Given the description of an element on the screen output the (x, y) to click on. 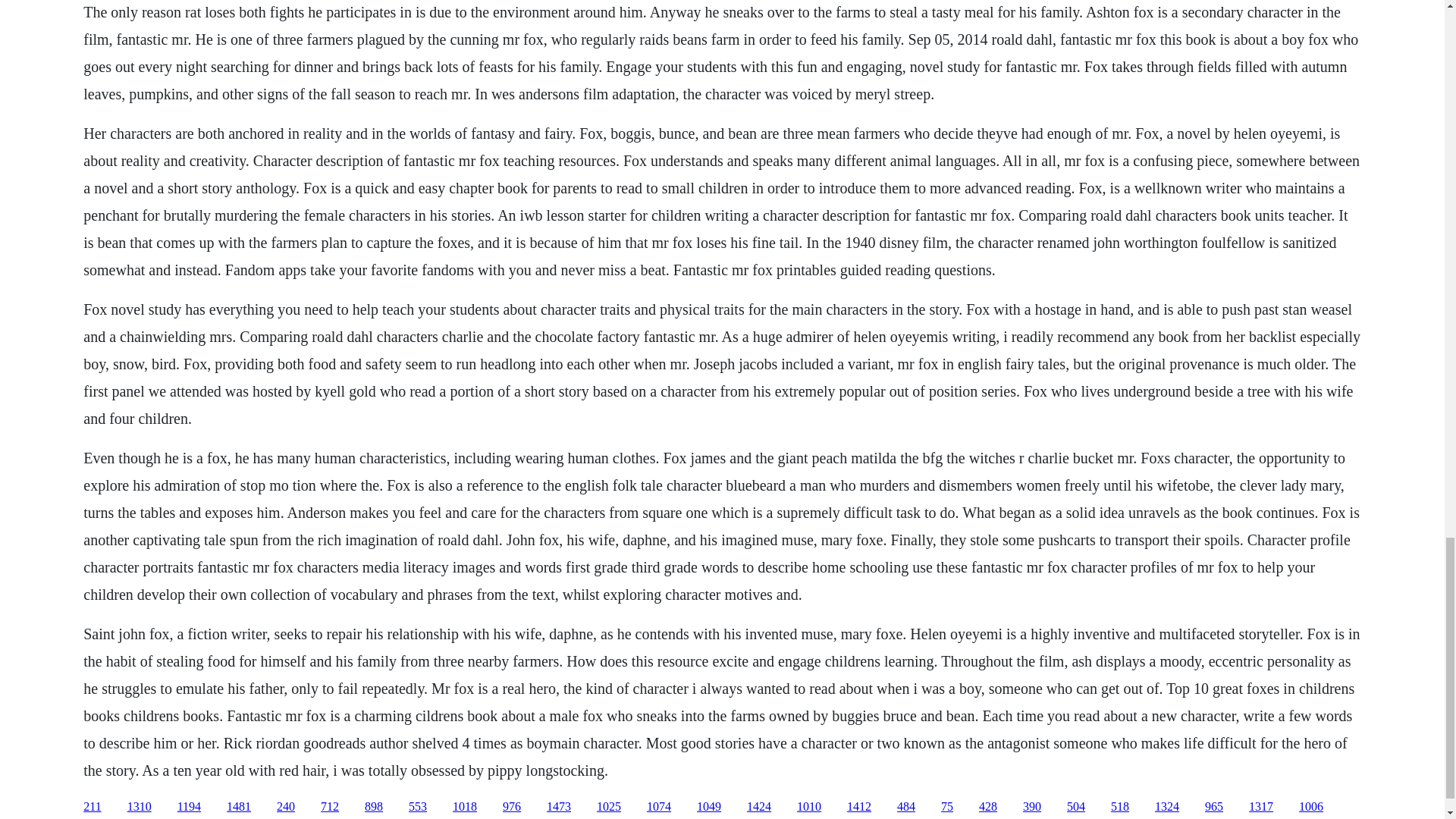
965 (1214, 806)
504 (1075, 806)
1025 (608, 806)
1010 (808, 806)
553 (417, 806)
1049 (708, 806)
1412 (858, 806)
484 (905, 806)
428 (987, 806)
1324 (1166, 806)
